Given the description of an element on the screen output the (x, y) to click on. 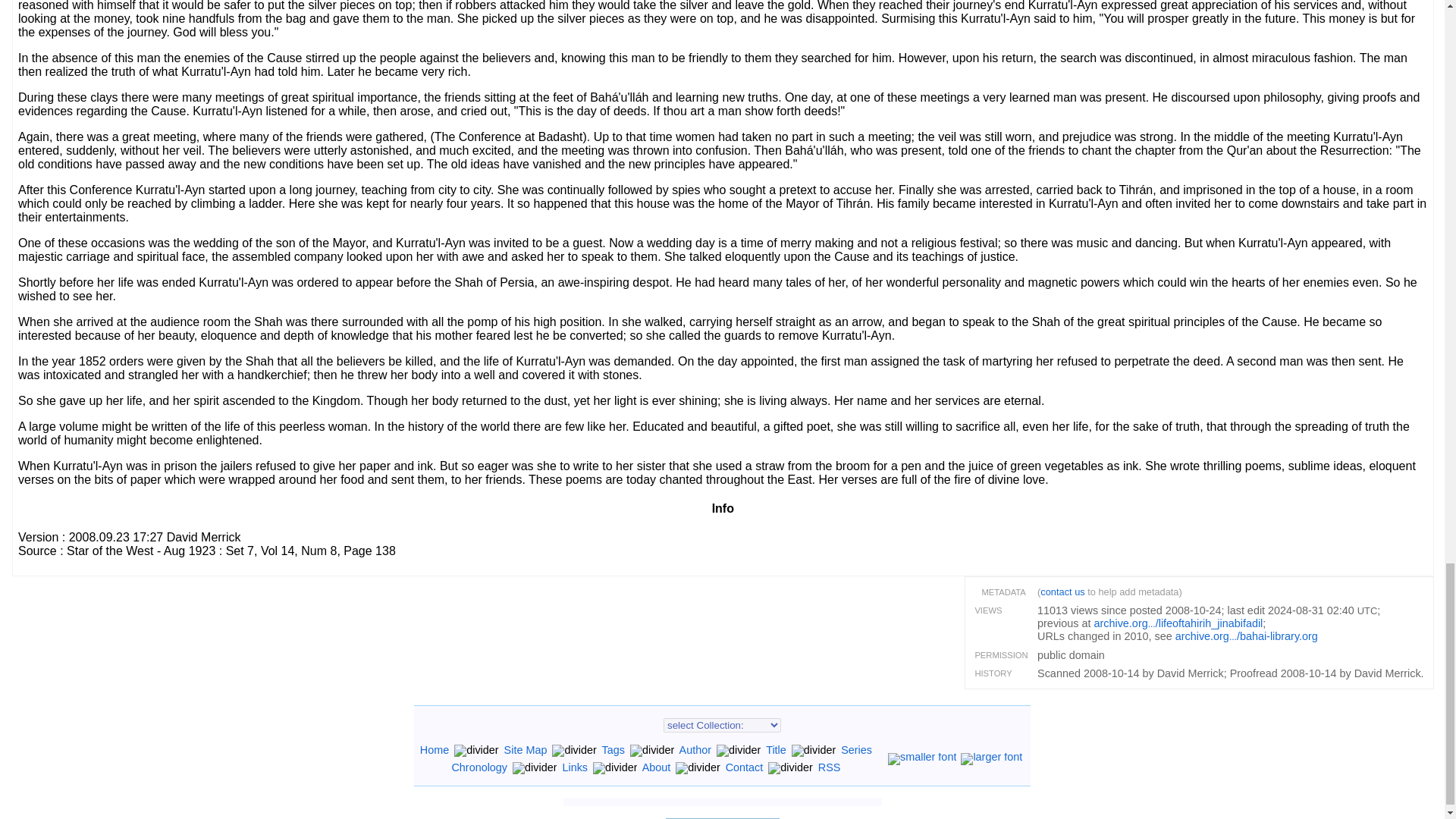
Contact (743, 767)
Title (775, 749)
Author (695, 749)
make text smaller (921, 756)
make text larger (991, 756)
Chronology (478, 767)
Site Map (525, 749)
Tags (613, 749)
Home (434, 749)
Links (575, 767)
